Given the description of an element on the screen output the (x, y) to click on. 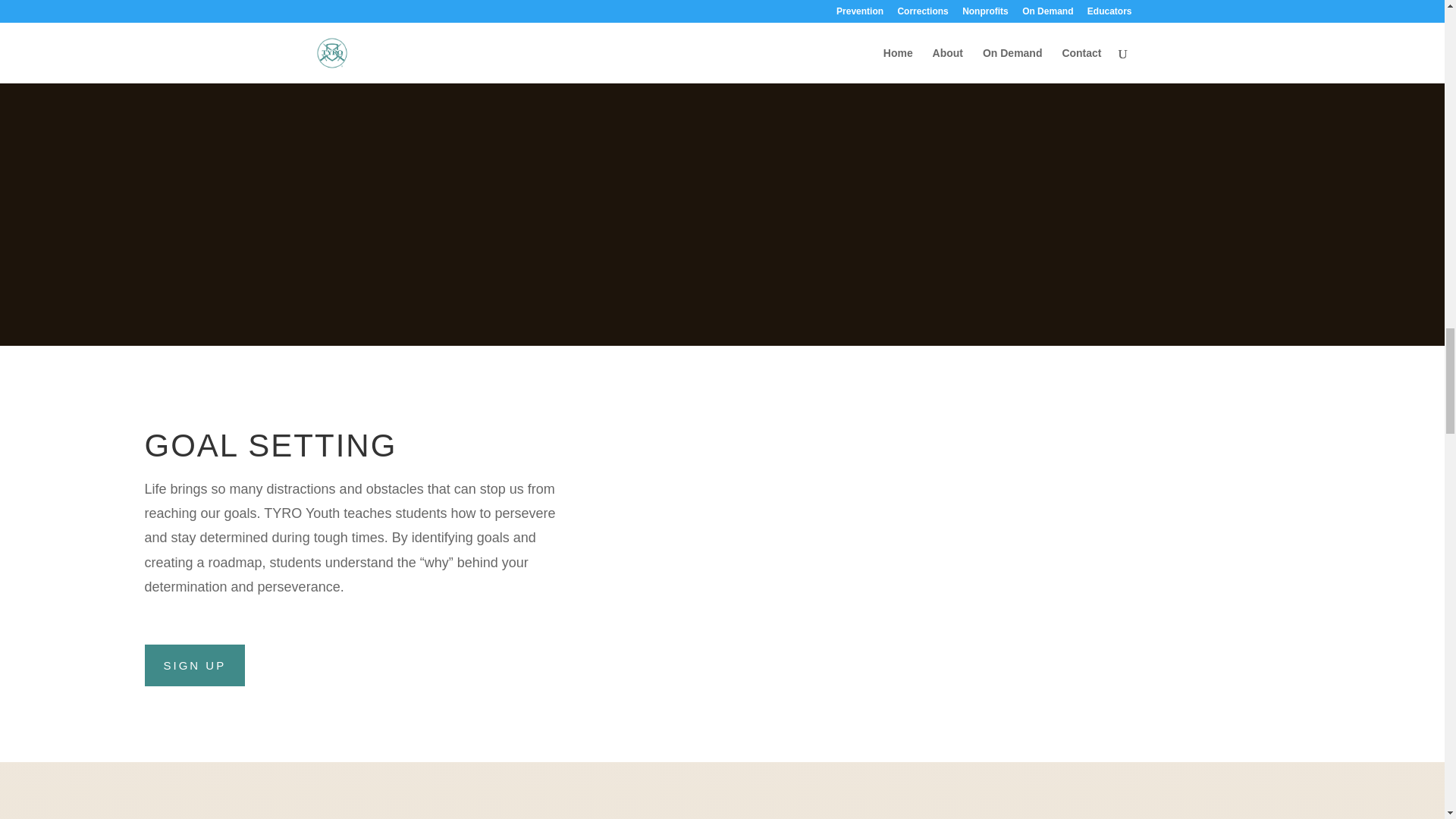
SIGN UP (194, 665)
